Given the description of an element on the screen output the (x, y) to click on. 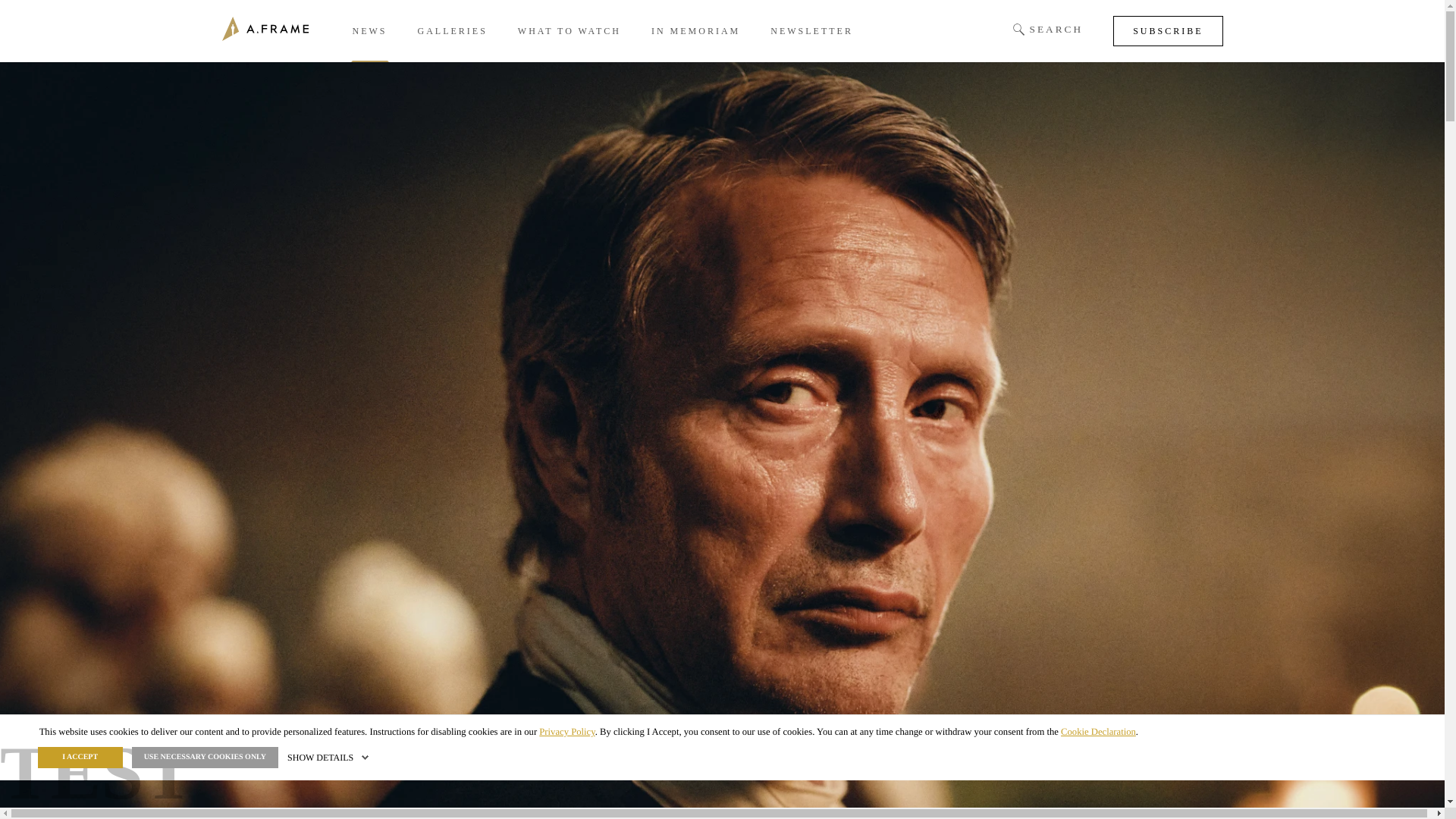
Cookie Declaration (1098, 731)
SHOW DETAILS (329, 757)
Privacy Policy (566, 731)
USE NECESSARY COOKIES ONLY (205, 757)
I ACCEPT (79, 757)
